Given the description of an element on the screen output the (x, y) to click on. 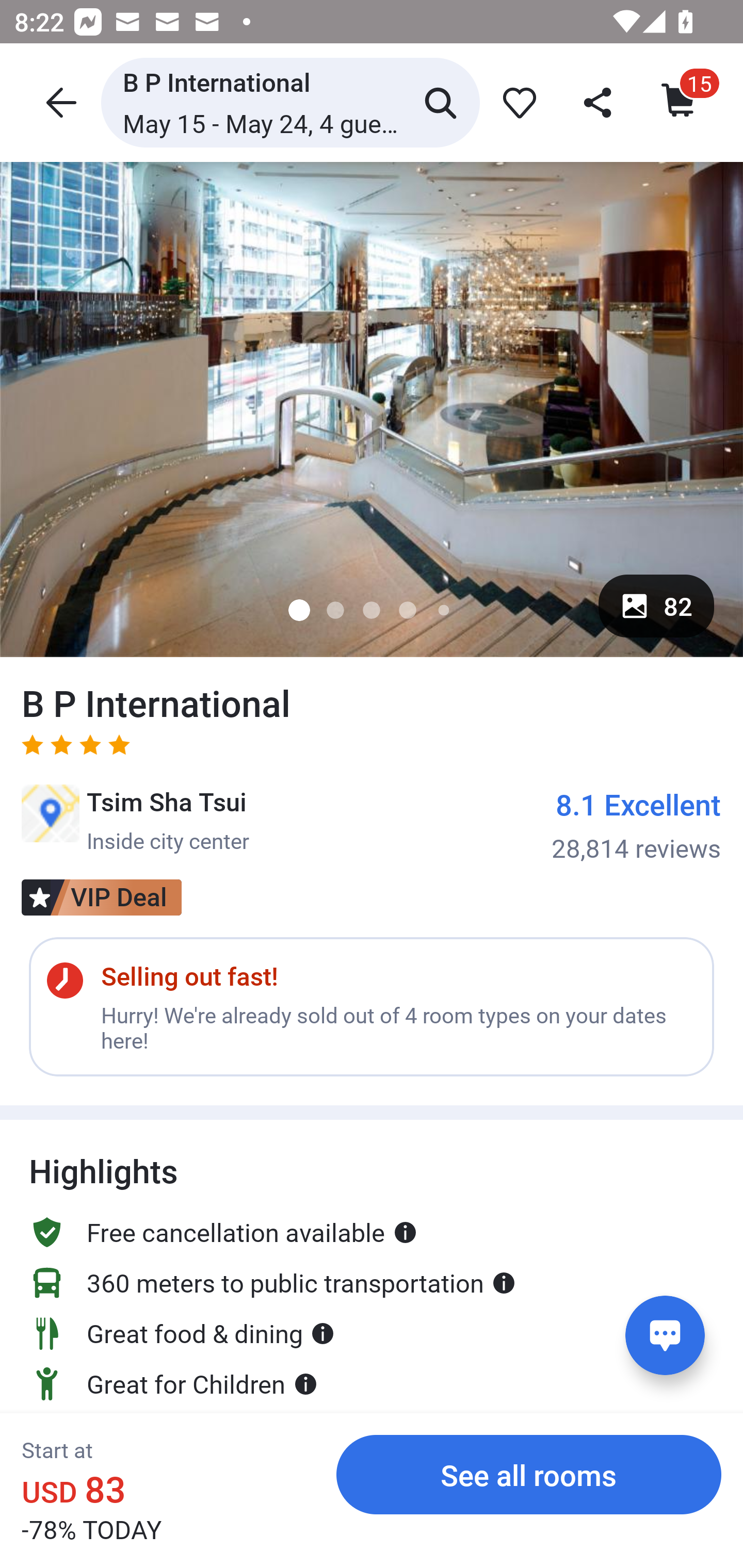
header icon (59, 102)
favorite_icon 0dbe6efb (515, 102)
share_header_icon (598, 102)
Cart icon cart_item_count 15 (679, 102)
image (371, 408)
82 (656, 605)
Tsim Sha Tsui Inside city center (134, 819)
8.1 Excellent 28,814 reviews (636, 824)
Free cancellation available (222, 1213)
360 meters to public transportation (272, 1282)
Great food & dining (181, 1333)
Great for Children (173, 1376)
See all rooms (528, 1474)
